Given the description of an element on the screen output the (x, y) to click on. 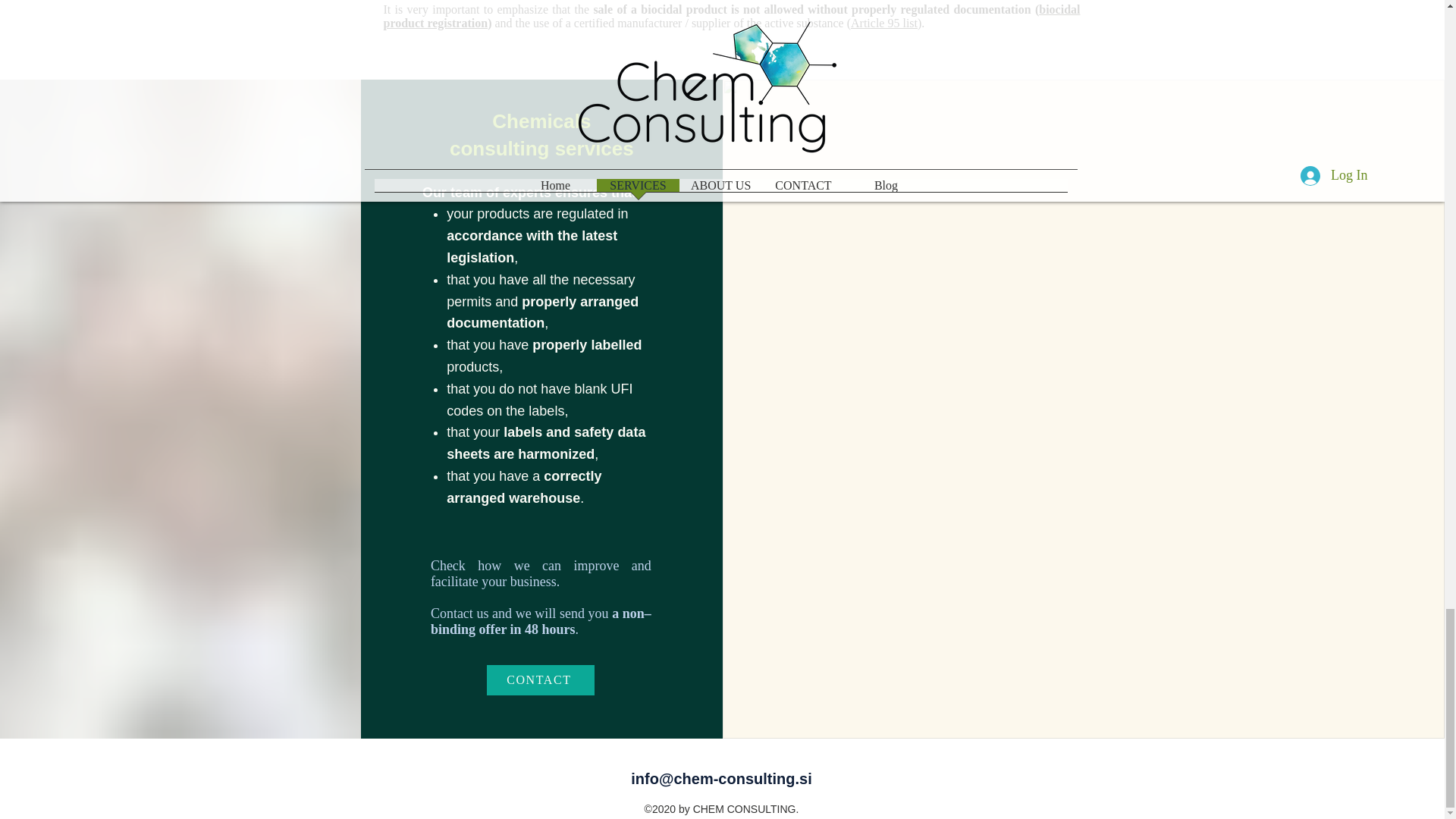
CONTACT (540, 680)
biocidal product registration (732, 16)
Article 95 list (883, 22)
